Given the description of an element on the screen output the (x, y) to click on. 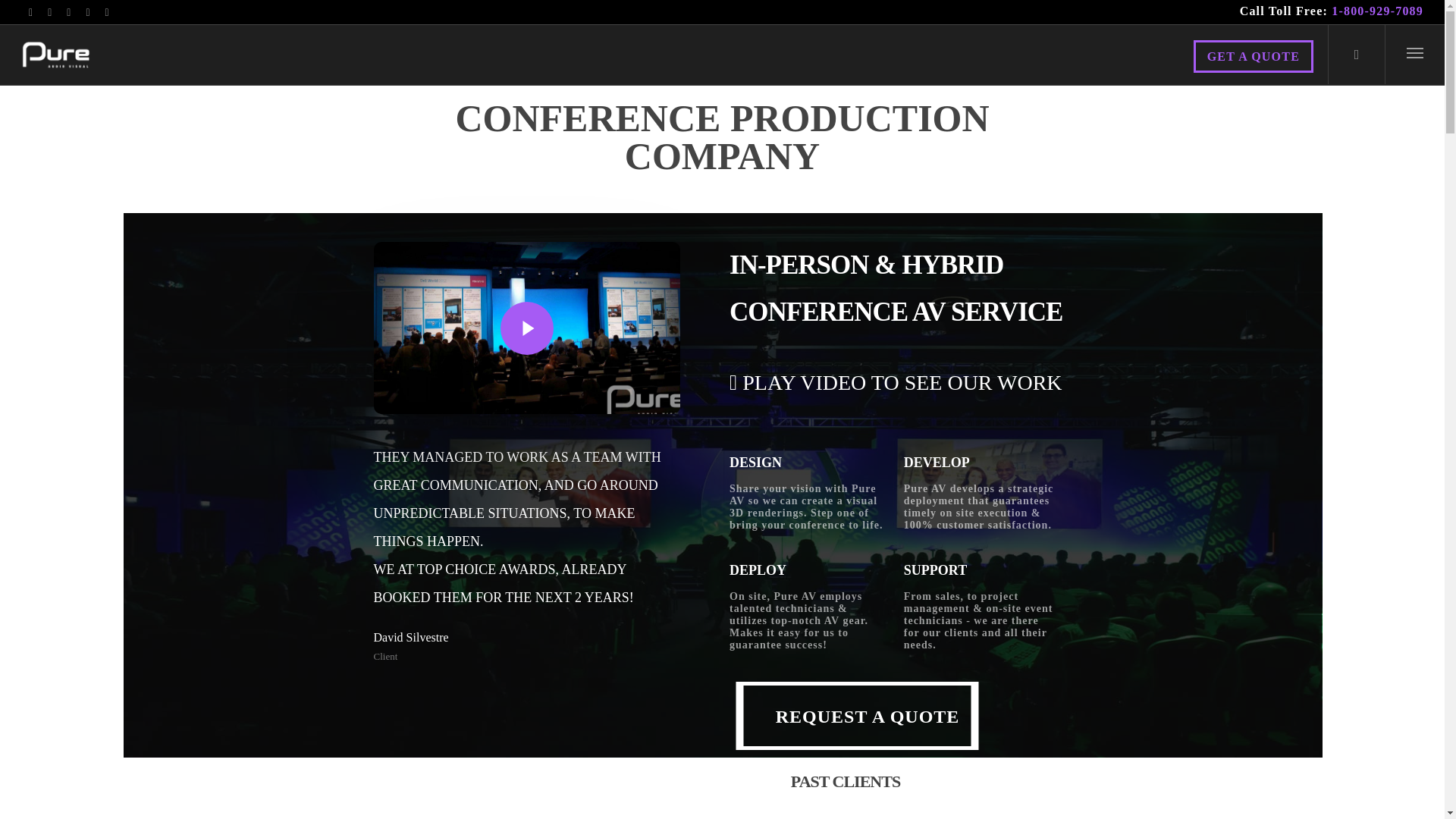
GET A QUOTE (857, 715)
1-800-929-7089 (1253, 56)
REQUEST A QUOTE (1377, 10)
